Given the description of an element on the screen output the (x, y) to click on. 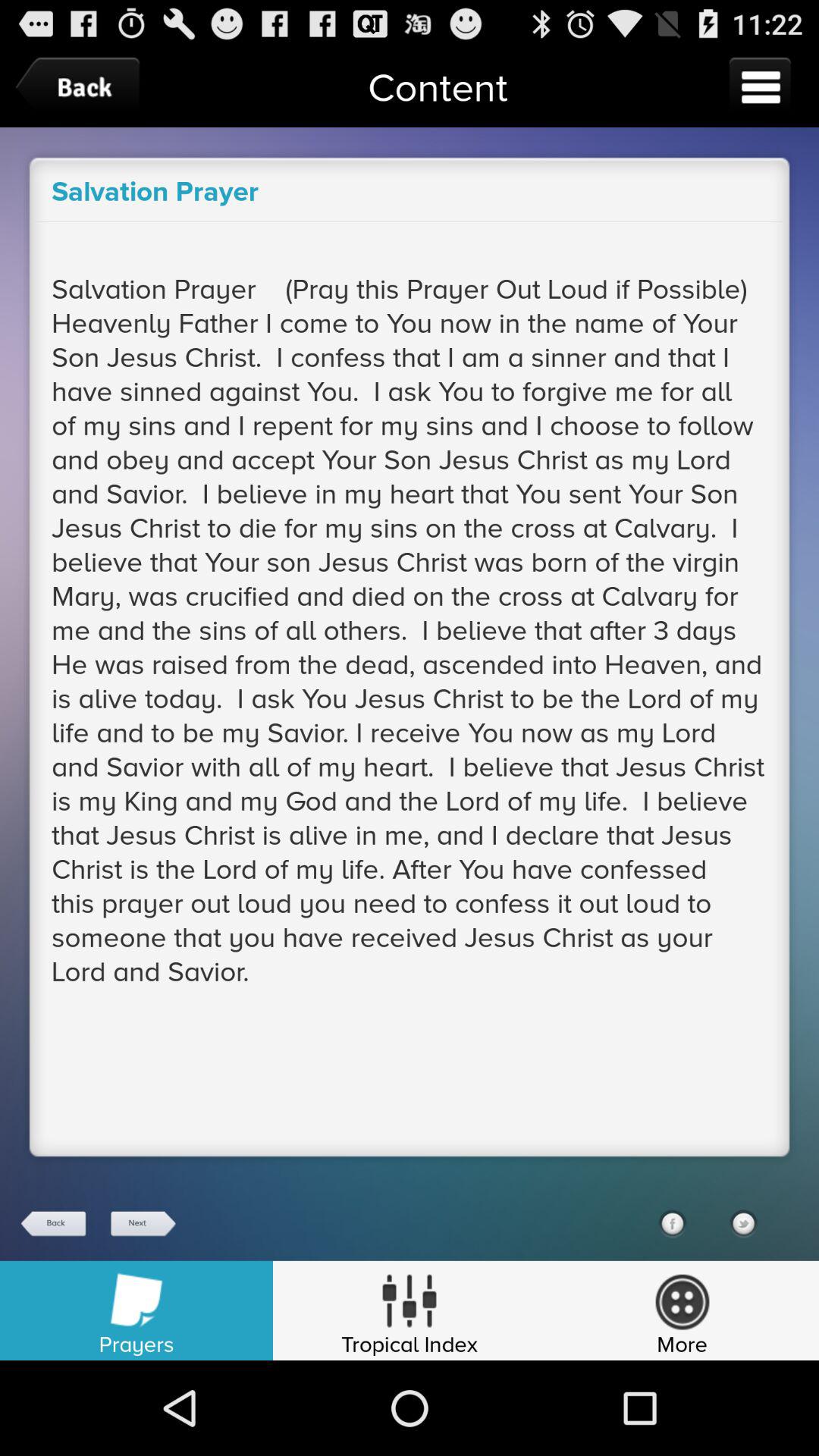
click the icon to the right of the content (760, 87)
